Given the description of an element on the screen output the (x, y) to click on. 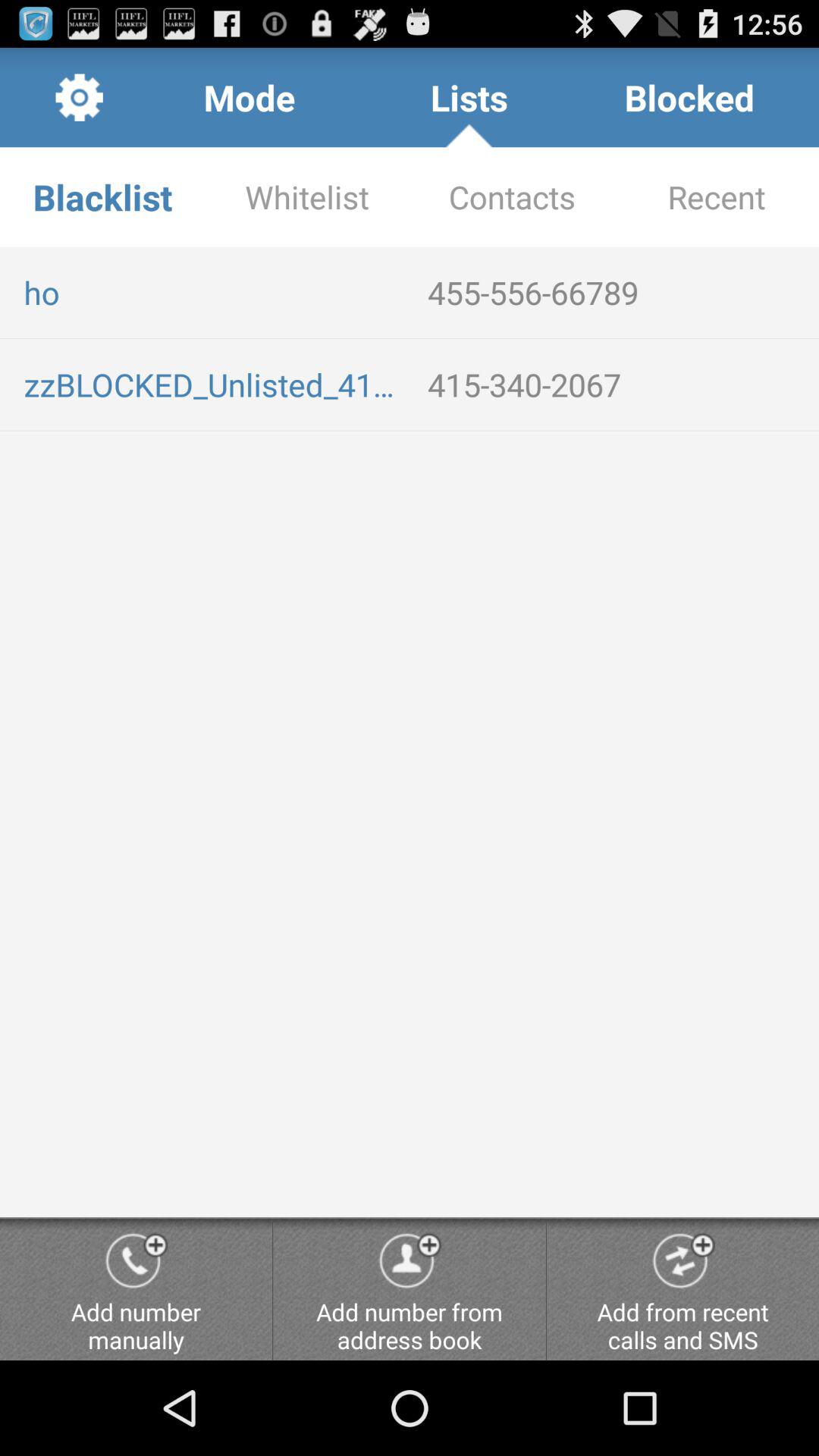
open app next to the contacts (306, 196)
